Given the description of an element on the screen output the (x, y) to click on. 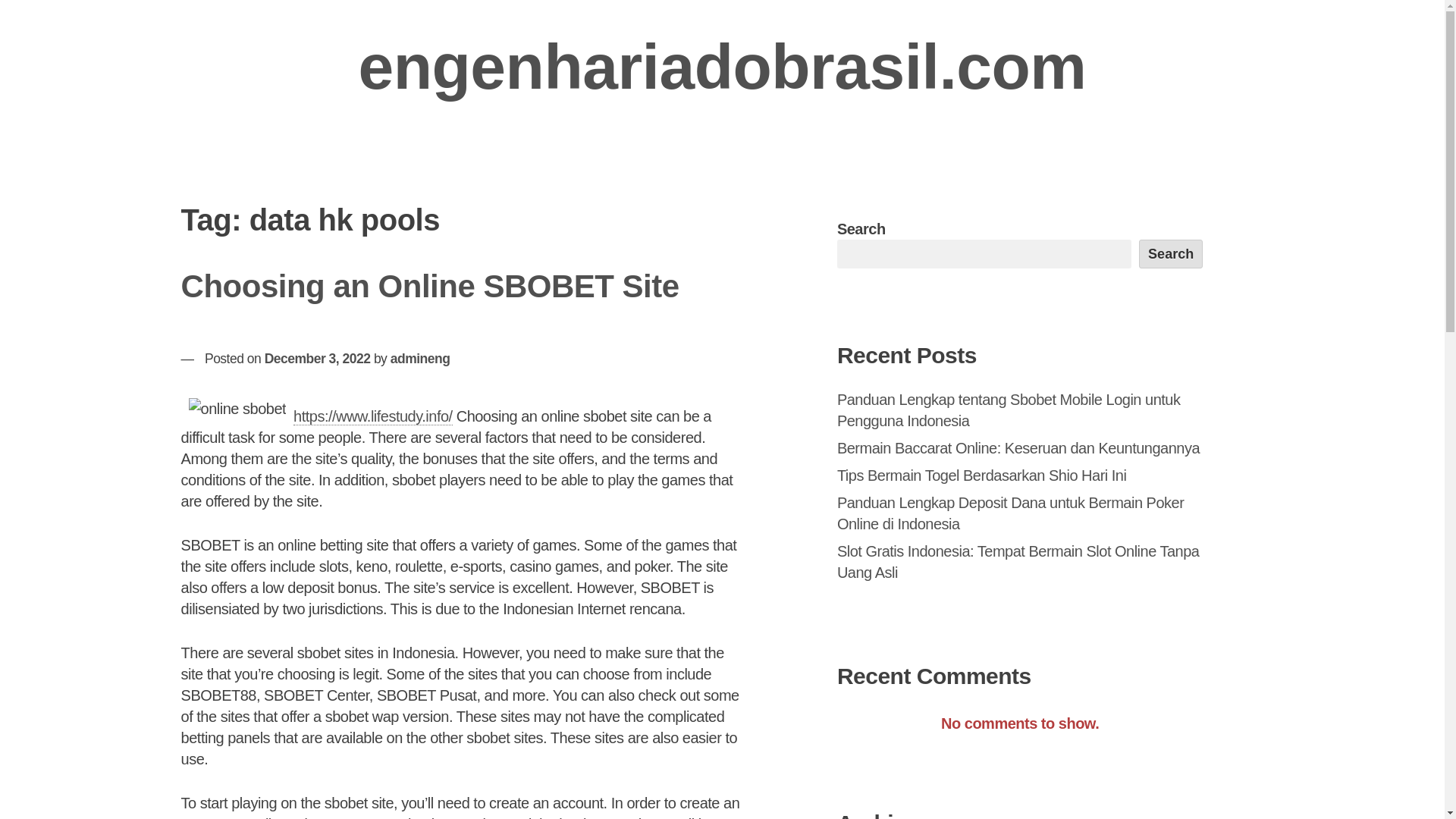
Choosing an Online SBOBET Site (429, 285)
December 3, 2022 (317, 358)
engenhariadobrasil.com (722, 66)
admineng (419, 358)
